Given the description of an element on the screen output the (x, y) to click on. 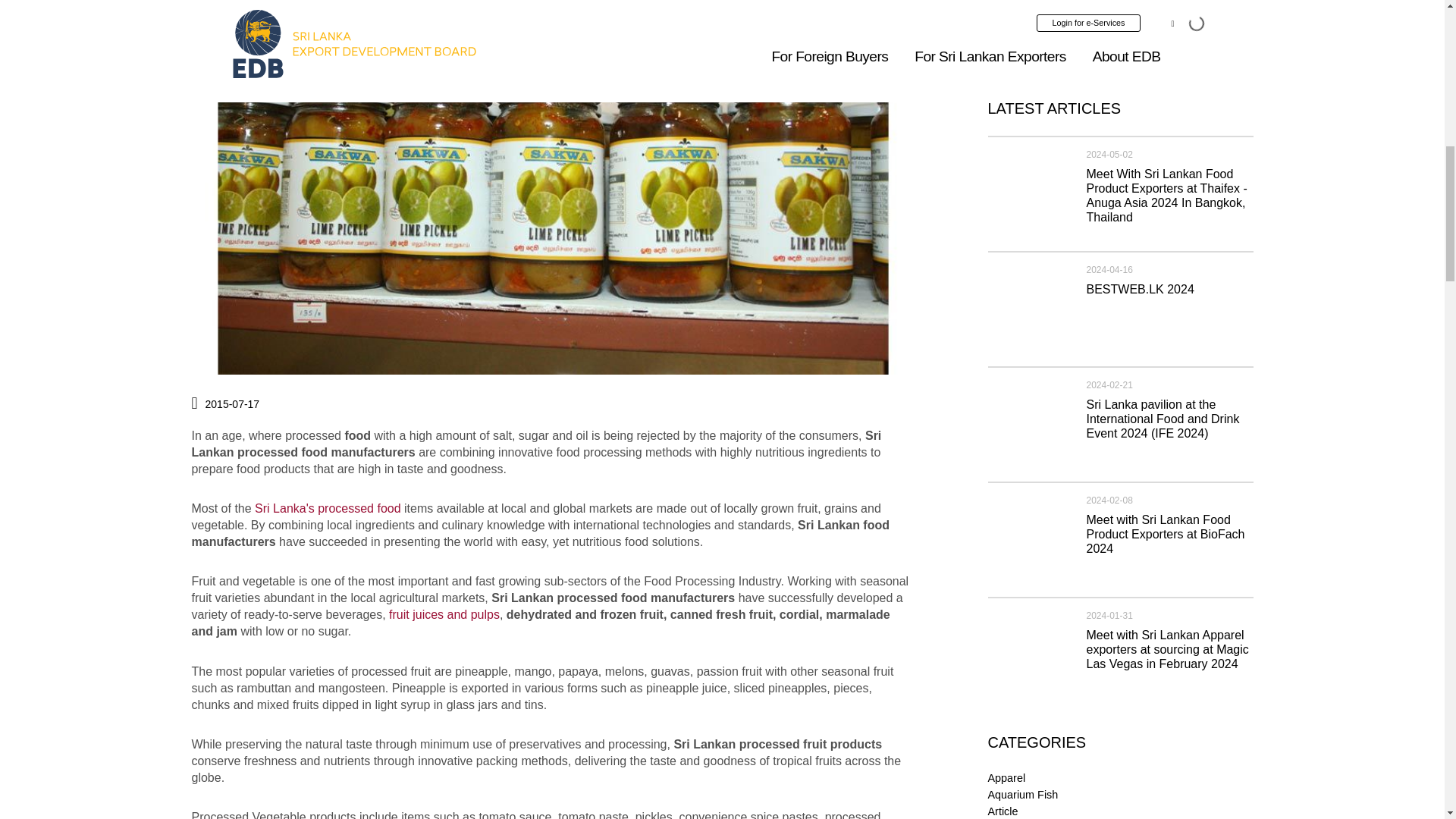
Sri Lanka's processed food (327, 508)
Meet with Sri Lankan Food Product Exporters at BioFach 2024 (1165, 533)
Sign Up (1213, 57)
BESTWEB.LK 2024 (1028, 304)
Meet with Sri Lankan Food Product Exporters at BioFach 2024 (1028, 534)
BESTWEB.LK 2024 (1139, 287)
fruit juices and pulps (443, 614)
